Given the description of an element on the screen output the (x, y) to click on. 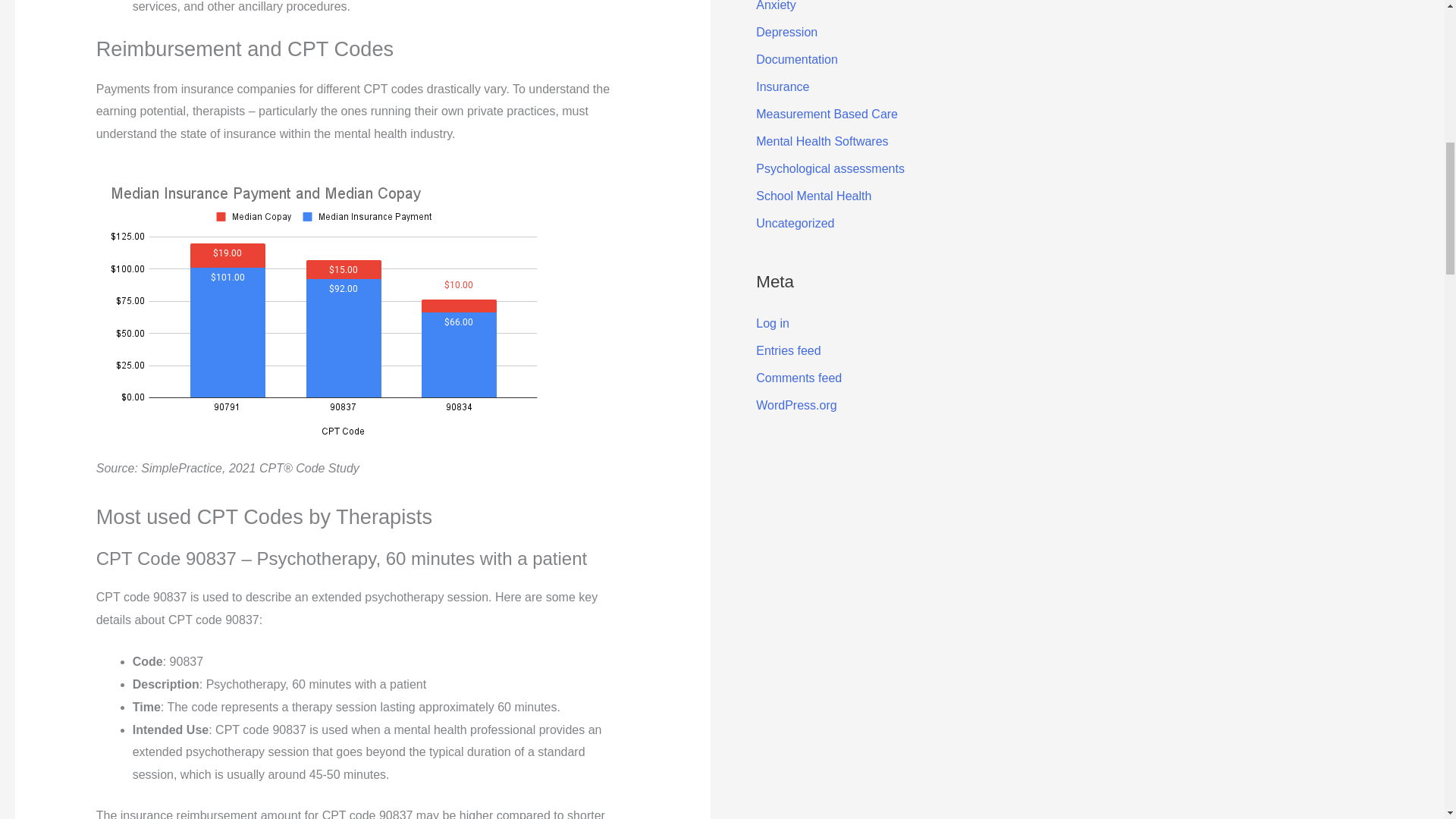
Documentation (796, 59)
Anxiety (774, 5)
Insurance (782, 86)
Depression (785, 31)
Measurement Based Care (826, 113)
